Given the description of an element on the screen output the (x, y) to click on. 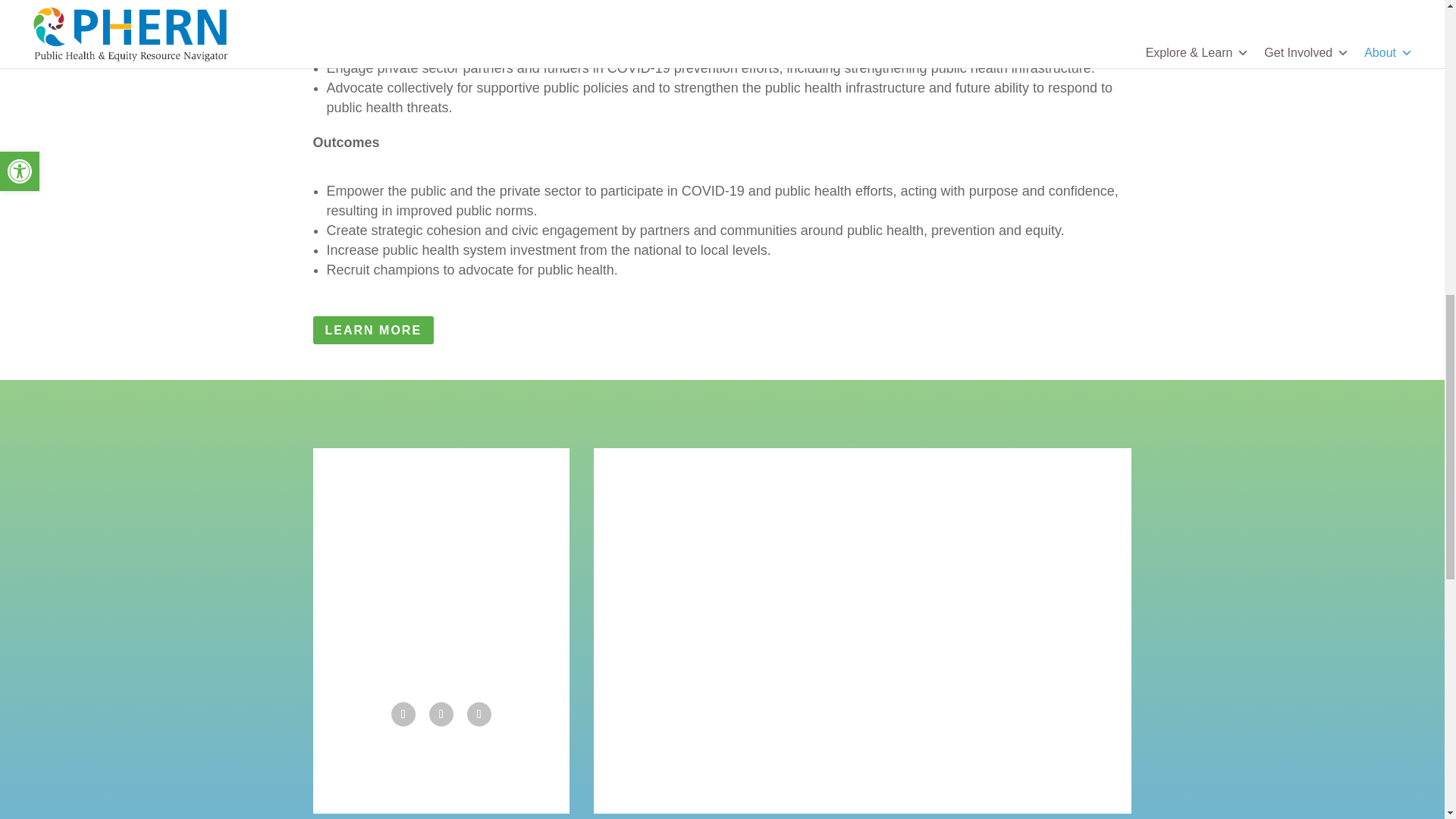
Follow on LinkedIn (479, 713)
Follow on Twitter (440, 713)
Follow on Facebook (402, 713)
